Given the description of an element on the screen output the (x, y) to click on. 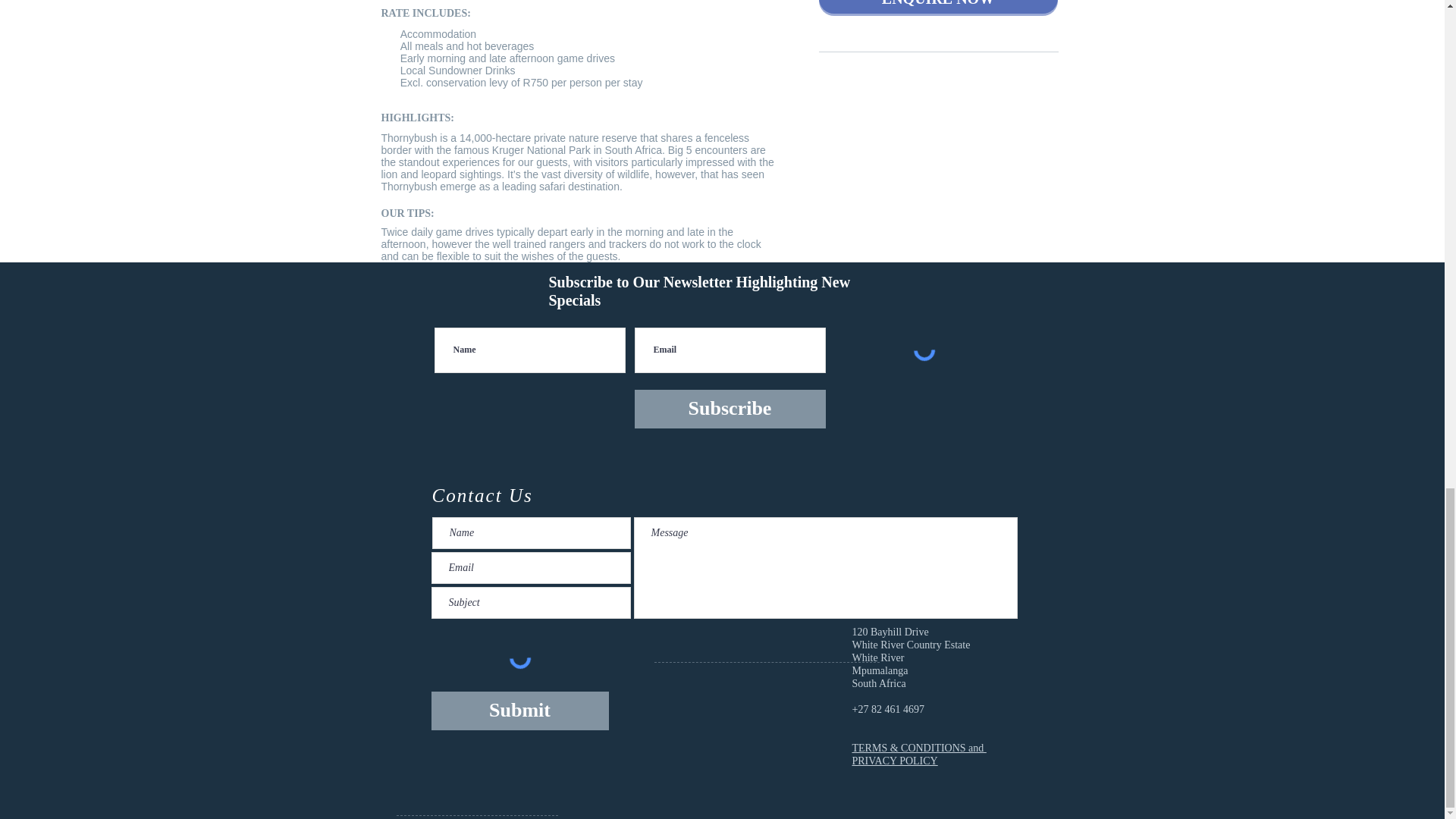
ENQUIRE NOW (938, 6)
Subscribe (729, 408)
Submit (519, 710)
